Given the description of an element on the screen output the (x, y) to click on. 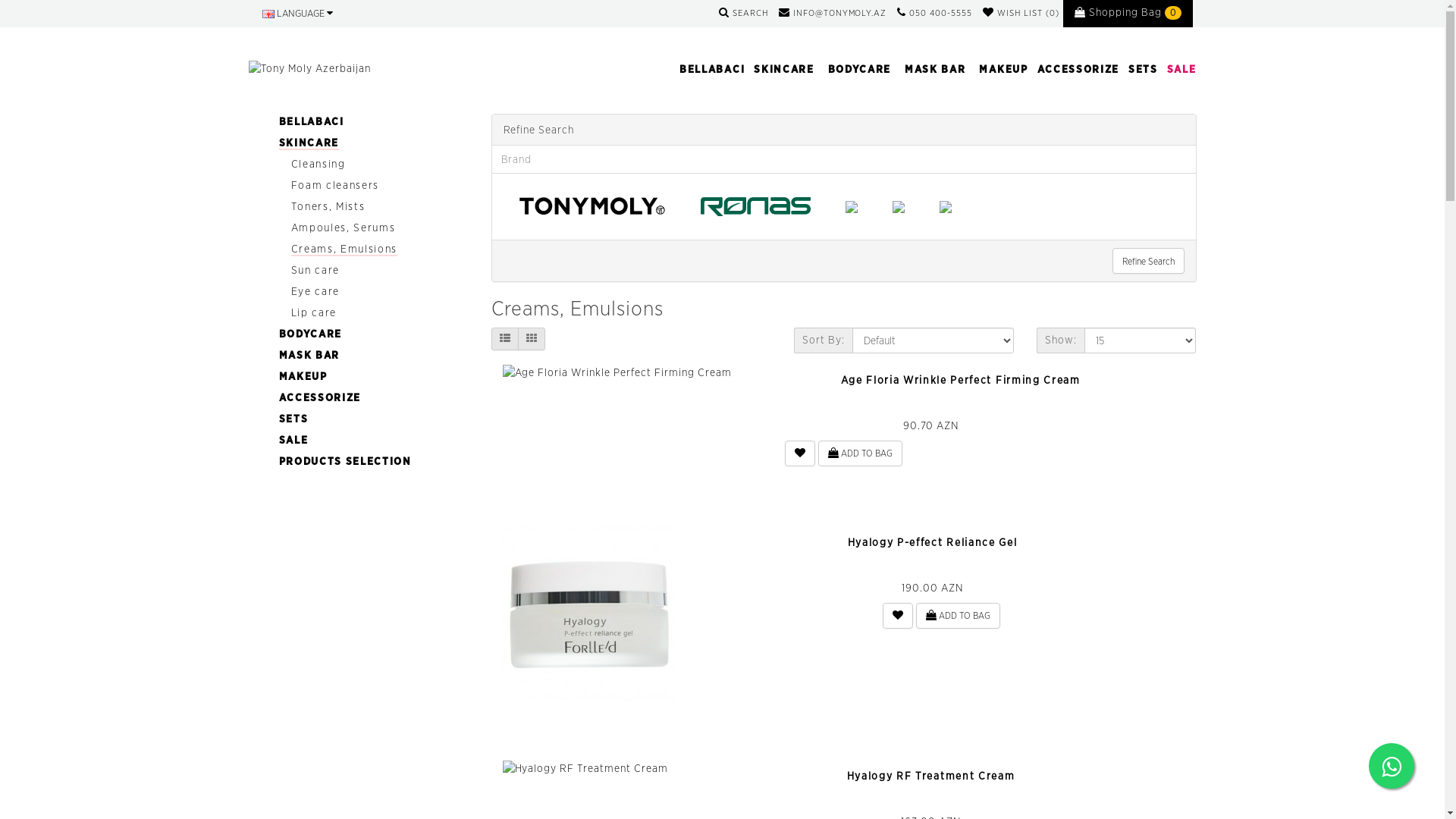
Grid Element type: hover (530, 338)
BODYCARE Element type: text (310, 333)
Hyalogy P-effect Reliance Gel Element type: text (932, 542)
Creams, Emulsions Element type: text (344, 248)
Cleansing Element type: text (318, 163)
Eye care Element type: text (315, 291)
SALE Element type: text (1178, 68)
MAKEUP Element type: text (999, 68)
BELLABACI Element type: text (311, 121)
SETS Element type: text (293, 418)
INFO@TONYMOLY.AZ Element type: text (832, 12)
LANGUAGE  Element type: text (296, 13)
Hyalogy P-effect Reliance Gel Element type: hover (588, 613)
ADD TO BAG Element type: text (860, 453)
PRODUCTS SELECTION Element type: text (345, 461)
BODYCARE Element type: text (858, 68)
Shopping Bag 0 Element type: text (1127, 13)
ACCESSORIZE Element type: text (319, 397)
ACCESSORIZE Element type: text (1075, 68)
Hyalogy RF Treatment Cream Element type: hover (584, 767)
Tony Moly Azerbaijan Element type: hover (317, 67)
Sun care Element type: text (315, 269)
Refine Search Element type: text (1147, 260)
SKINCARE Element type: text (782, 68)
SKINCARE Element type: text (308, 143)
Hyalogy RF Treatment Cream Element type: text (931, 775)
Age Floria Wrinkle Perfect Firming Cream Element type: text (959, 379)
Add to Wish List Element type: hover (799, 453)
Add to Wish List Element type: hover (897, 615)
SETS Element type: text (1139, 68)
MASK BAR Element type: text (309, 354)
Toners, Mists Element type: text (328, 206)
Age Floria Wrinkle Perfect Firming Cream Element type: hover (616, 371)
WISH LIST (0) Element type: text (1020, 12)
MAKEUP Element type: text (303, 376)
Brand Element type: text (843, 159)
English Element type: hover (268, 13)
ADD TO BAG Element type: text (958, 615)
List Element type: hover (504, 338)
Foam cleansers Element type: text (335, 184)
BELLABACI Element type: text (708, 68)
SALE Element type: text (293, 439)
050 400-5555 Element type: text (934, 12)
Ampoules, Serums Element type: text (343, 227)
Lip care Element type: text (313, 312)
MASK BAR Element type: text (933, 68)
SEARCH Element type: text (743, 12)
